Given the description of an element on the screen output the (x, y) to click on. 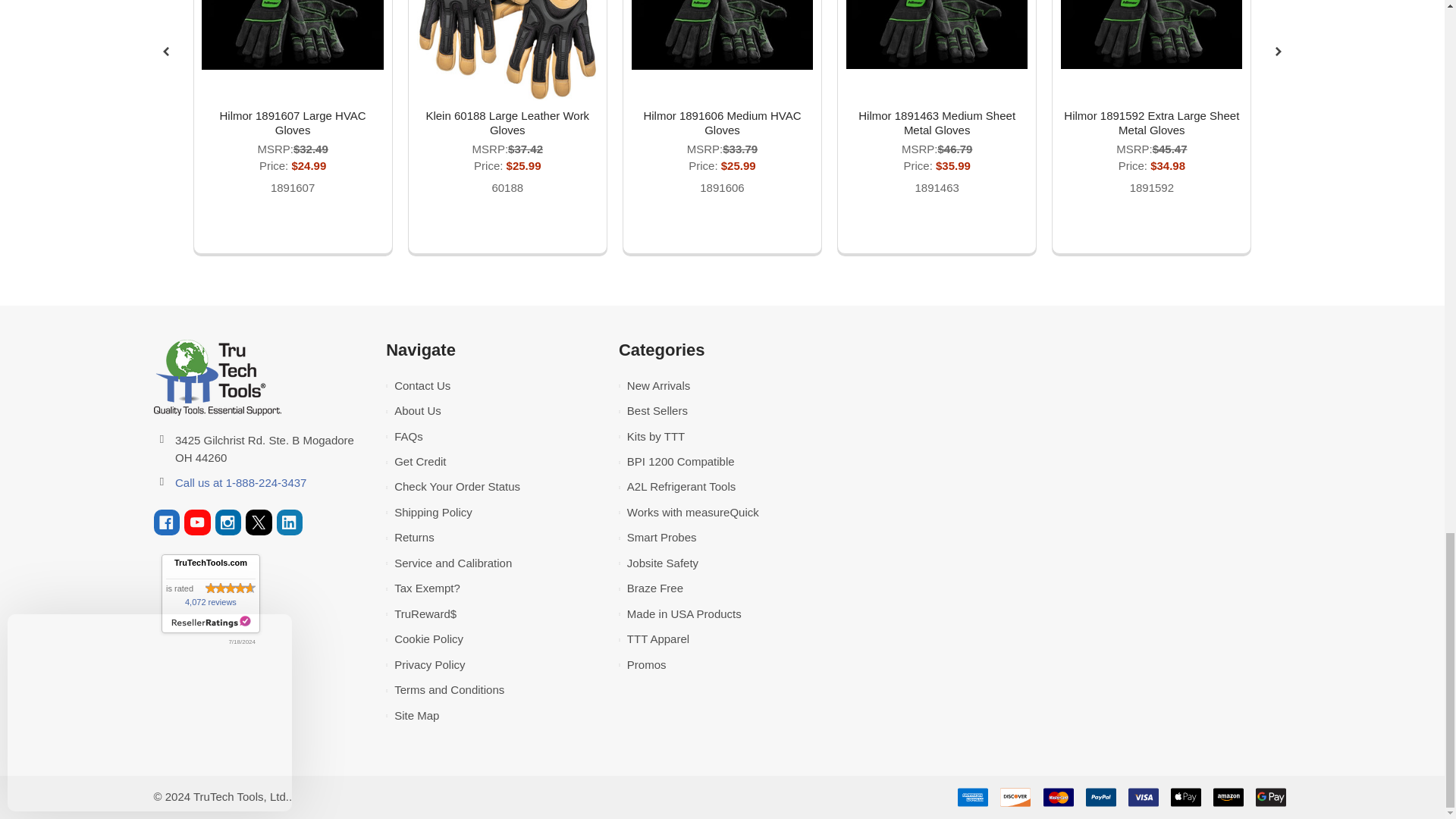
Hilmor 1891463 Medium Sheet Metal Gloves (936, 34)
Hilmor 1891592 Extra Large Sheet Metal Gloves (1151, 34)
Hilmor 1891607 Large HVAC Gloves (292, 34)
Klein 60188 Large Leather Work Gloves (507, 50)
Hilmor 1891606 Medium HVAC Gloves (721, 34)
